Given the description of an element on the screen output the (x, y) to click on. 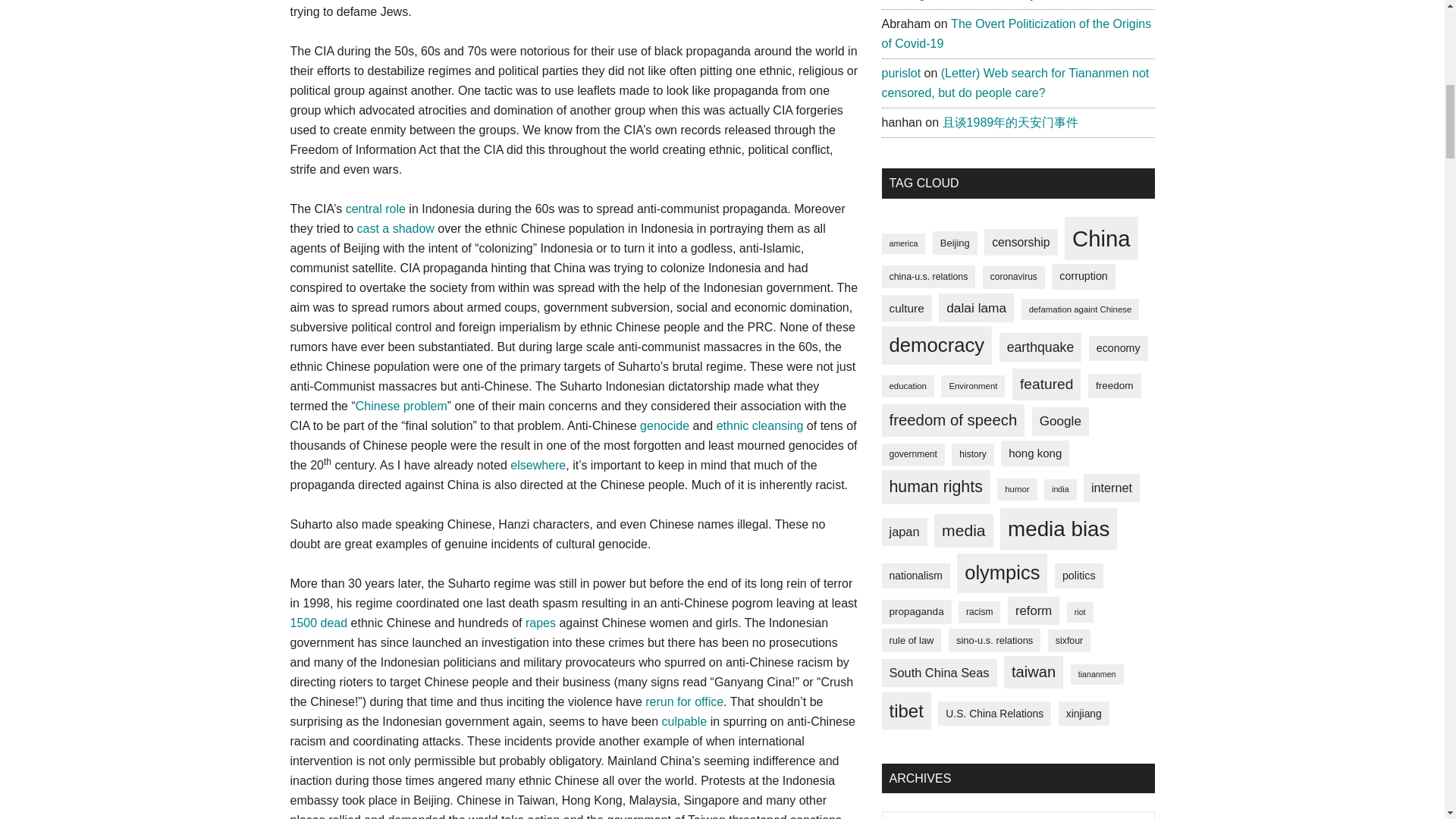
rerun for office (684, 701)
1500 dead (319, 622)
cast a shadow (394, 228)
ethnic cleansing (759, 425)
central role (376, 208)
elsewhere (538, 464)
genocide (664, 425)
culpable (684, 721)
Chinese problem (400, 405)
rapes (540, 622)
